Given the description of an element on the screen output the (x, y) to click on. 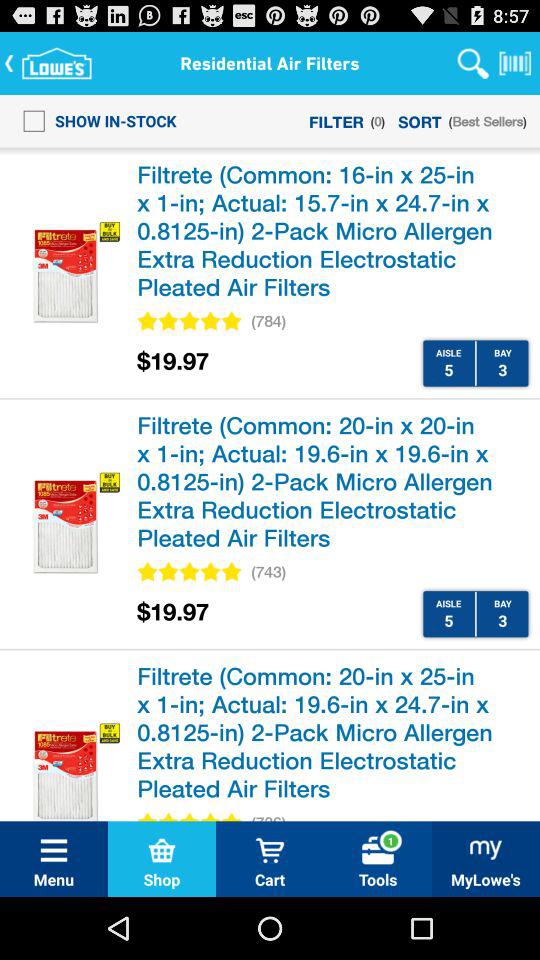
turn on item next to (0) icon (419, 120)
